Given the description of an element on the screen output the (x, y) to click on. 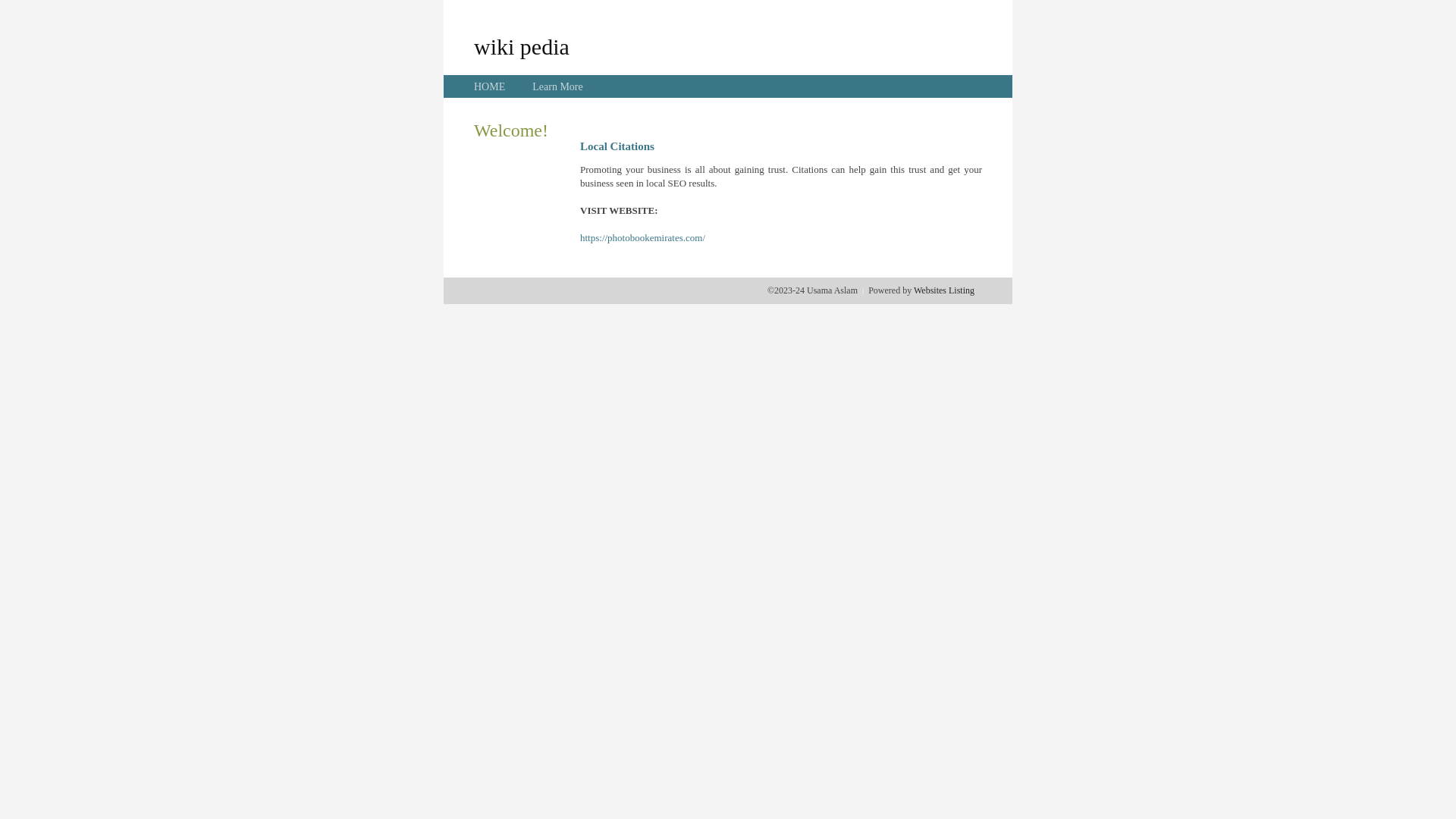
HOME Element type: text (489, 86)
Learn More Element type: text (557, 86)
wiki pedia Element type: text (521, 46)
https://photobookemirates.com/ Element type: text (642, 237)
Websites Listing Element type: text (943, 290)
